Given the description of an element on the screen output the (x, y) to click on. 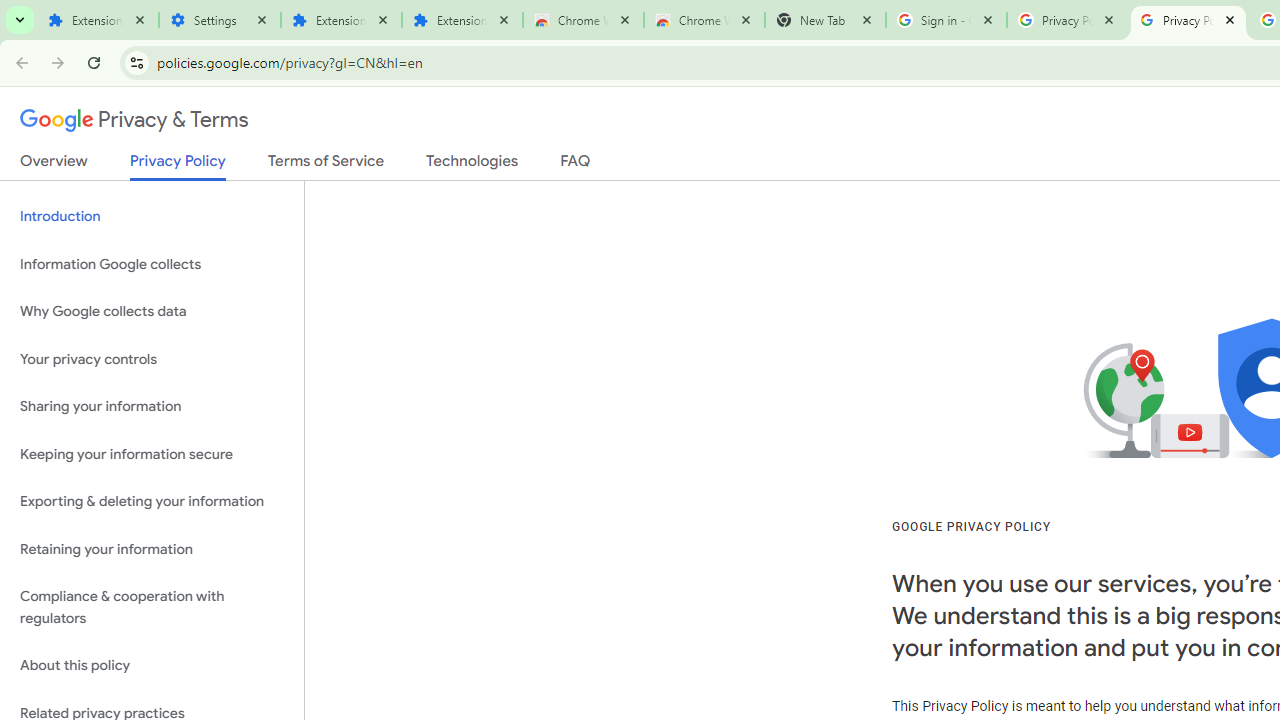
New Tab (825, 20)
Keeping your information secure (152, 453)
Technologies (472, 165)
FAQ (575, 165)
Settings (219, 20)
Compliance & cooperation with regulators (152, 607)
About this policy (152, 666)
Your privacy controls (152, 358)
Chrome Web Store - Themes (704, 20)
Privacy Policy (177, 166)
Sign in - Google Accounts (946, 20)
